Given the description of an element on the screen output the (x, y) to click on. 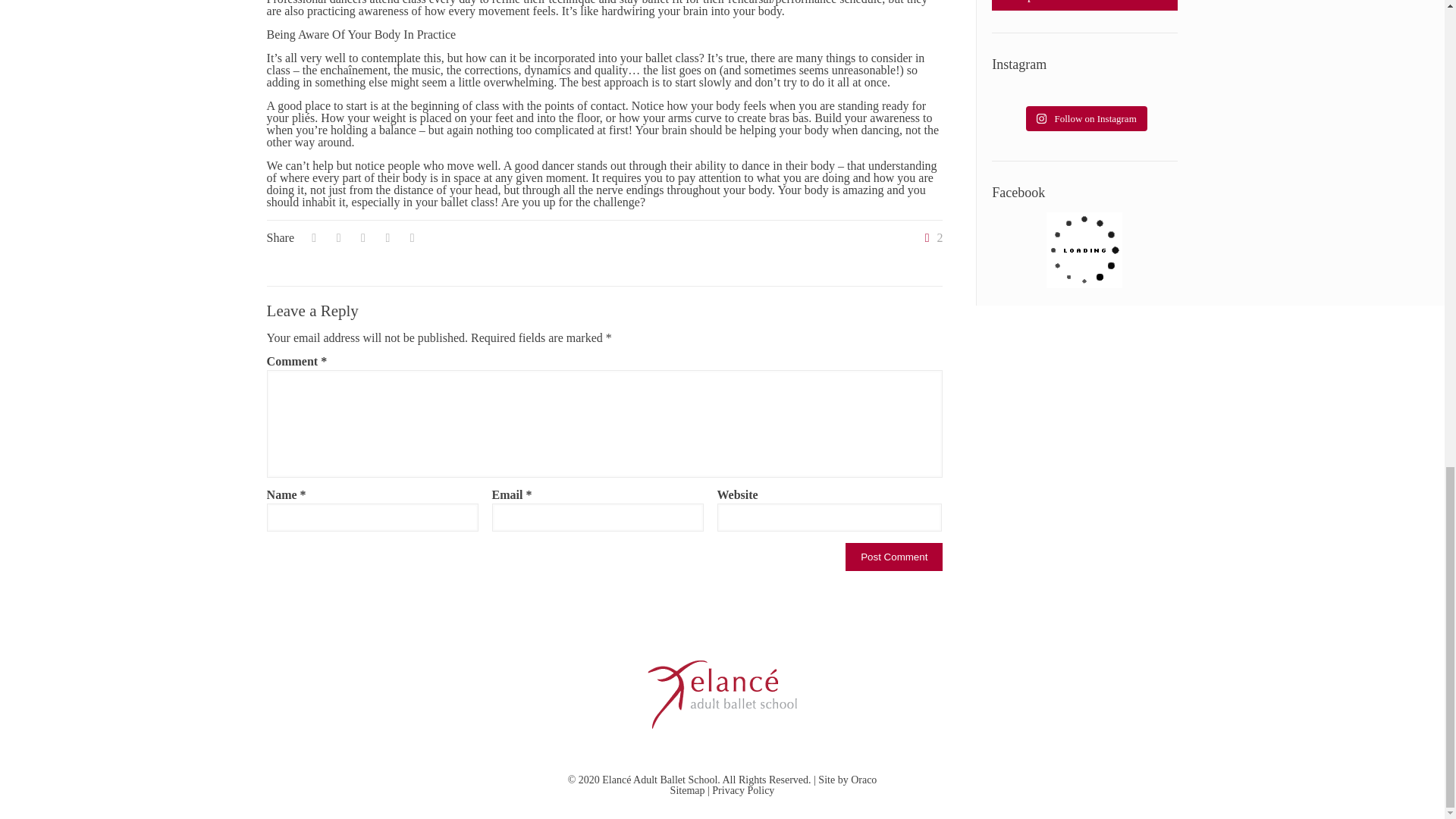
Sitemap (686, 790)
Tips (1091, 3)
Follow on Instagram (1086, 118)
2 (930, 237)
Post Comment (893, 556)
Oraco (863, 779)
Post Comment (893, 556)
Privacy Policy (742, 790)
